Given the description of an element on the screen output the (x, y) to click on. 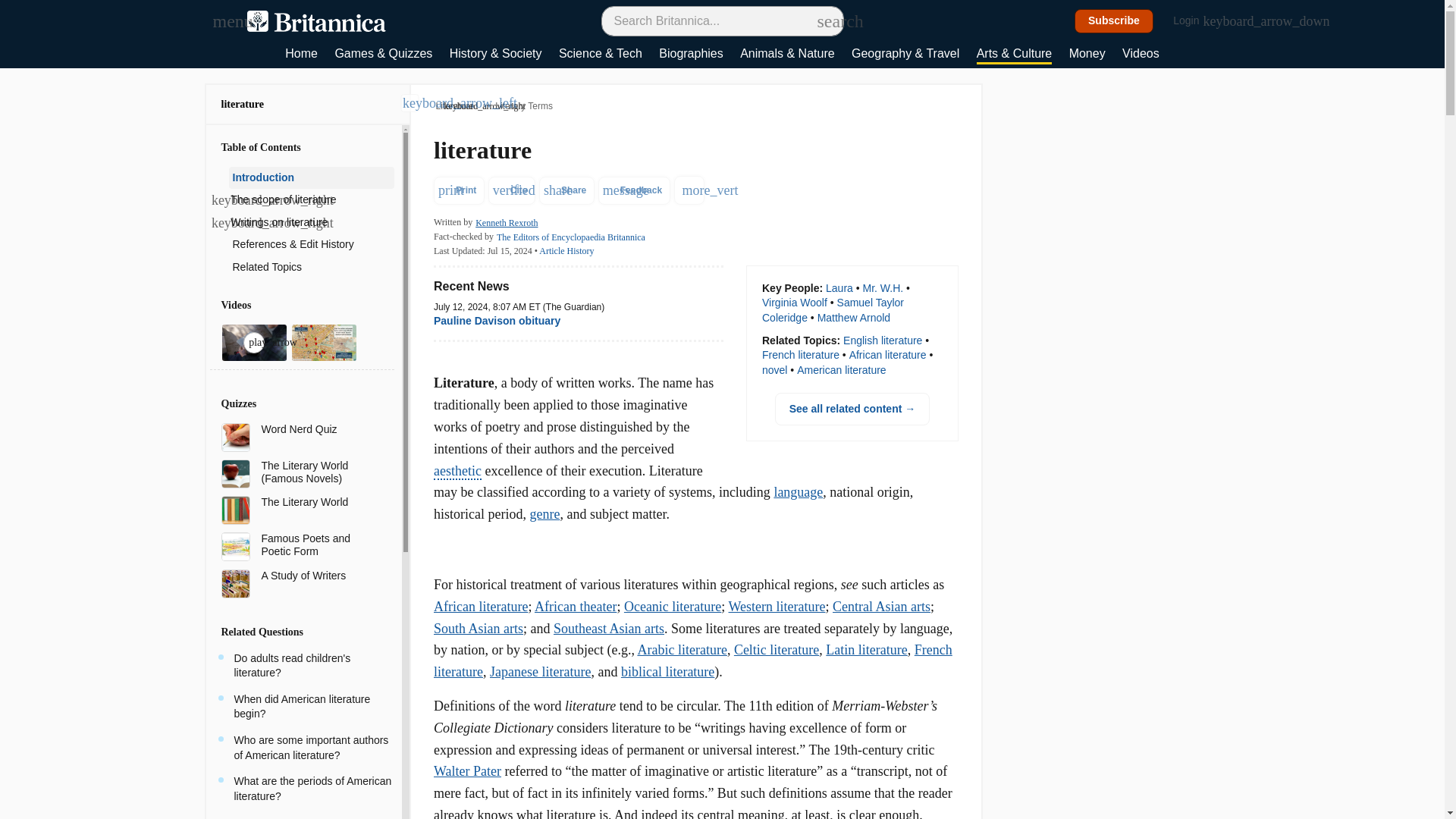
Click here to search (825, 20)
Money (1086, 54)
Videos (1140, 54)
The scope of literature (310, 200)
Home (301, 54)
Introduction (311, 178)
literature (242, 103)
Login (1194, 20)
Subscribe (1114, 21)
Biographies (691, 54)
